Given the description of an element on the screen output the (x, y) to click on. 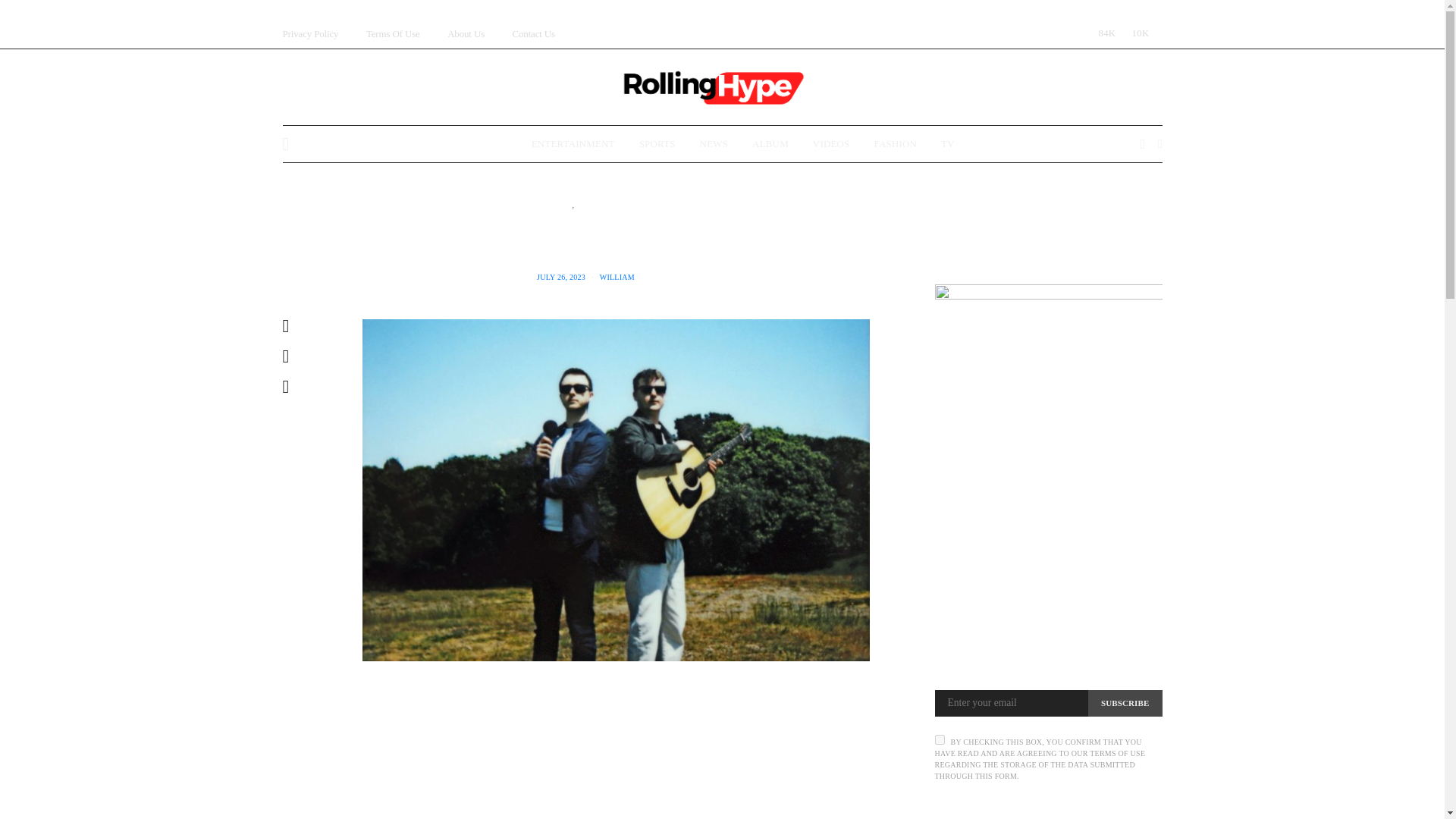
on (938, 739)
FASHION (895, 144)
ALBUM (770, 144)
84K (1103, 33)
Contact Us (533, 33)
Privacy Policy (309, 33)
VIDEOS (831, 144)
View all posts by William (616, 276)
10K (1137, 33)
About Us (465, 33)
SPORTS (657, 144)
Terms Of Use (393, 33)
ENTERTAINMENT (572, 144)
